Given the description of an element on the screen output the (x, y) to click on. 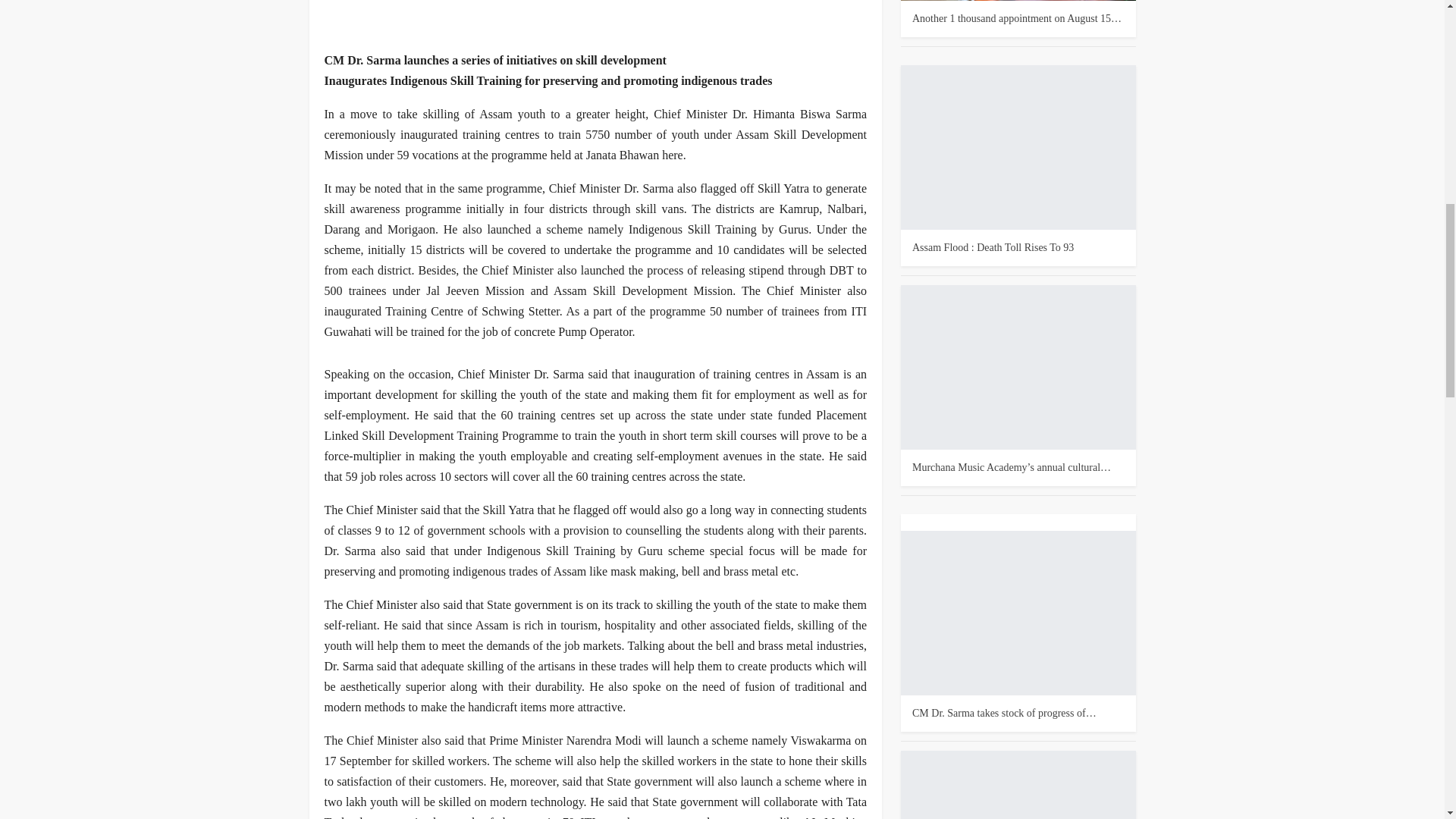
Advertisement (595, 20)
